Given the description of an element on the screen output the (x, y) to click on. 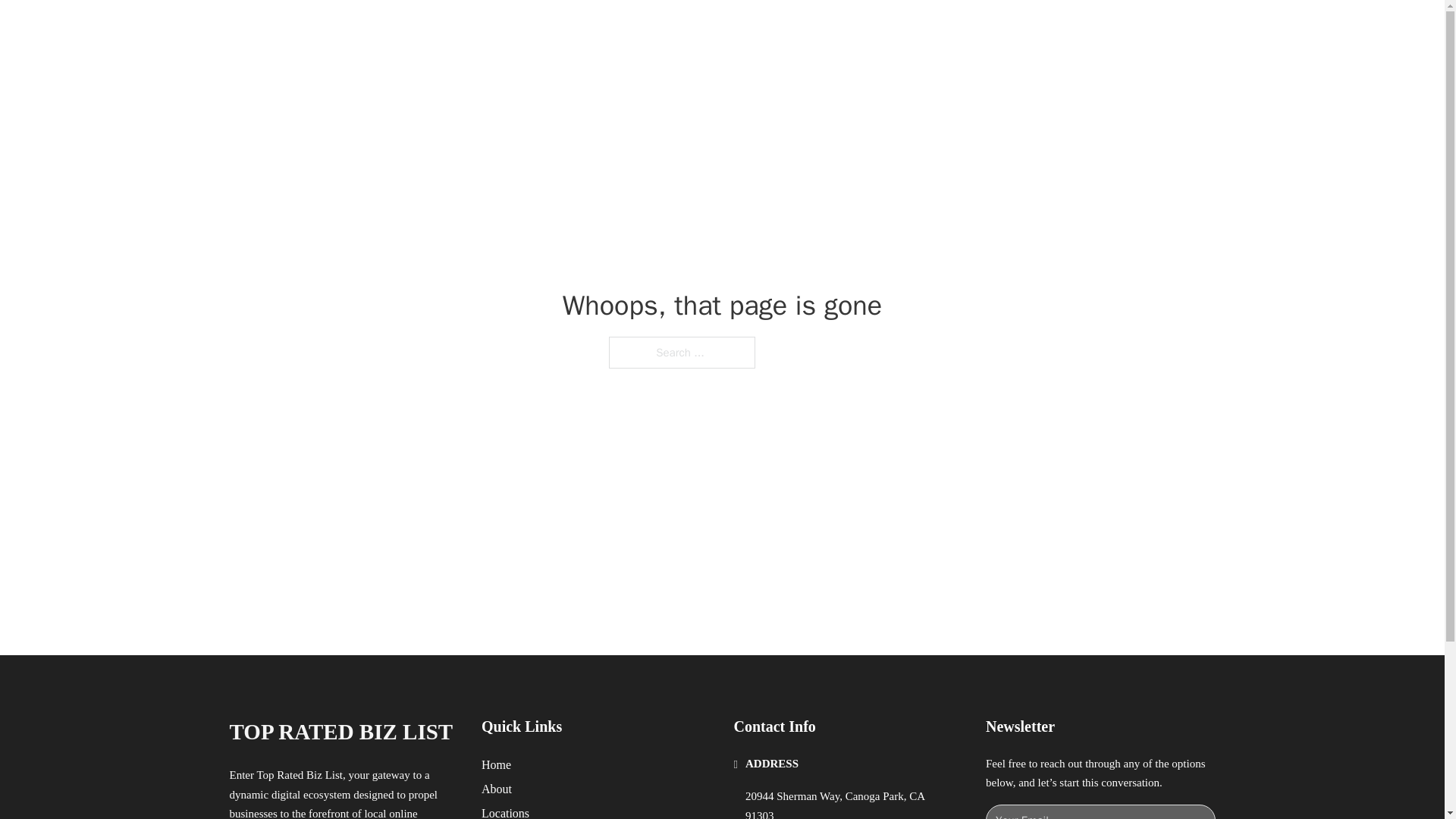
About (496, 788)
LOCATIONS (990, 29)
Home (496, 764)
TOP RATED BIZ LIST (340, 732)
HOME (919, 29)
Locations (505, 811)
TOP RATED BIZ LIST (410, 28)
